Given the description of an element on the screen output the (x, y) to click on. 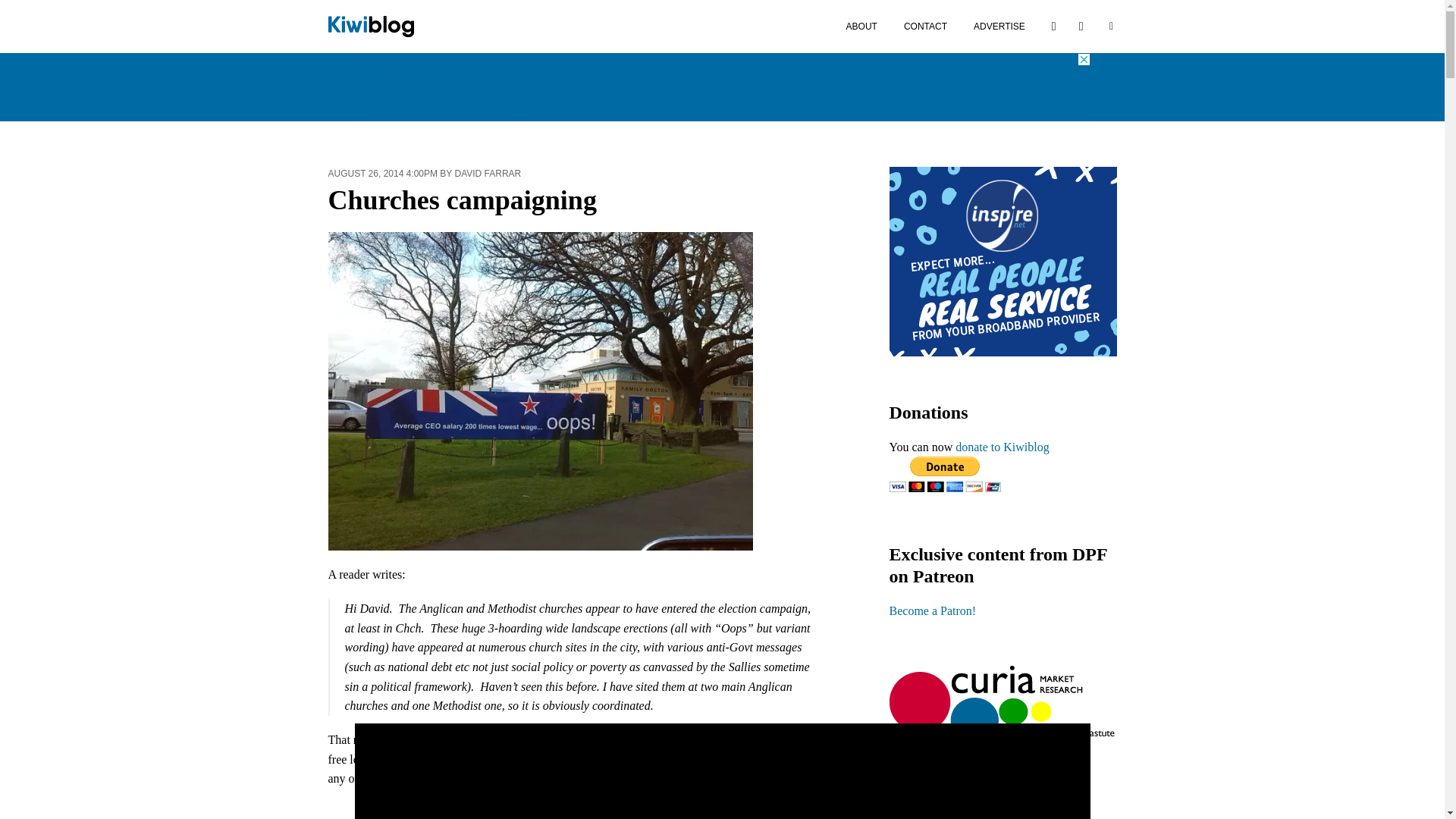
ABOUT (861, 26)
3rd party ad content (722, 87)
CONTACT (925, 26)
ADVERTISE (999, 26)
Toggle Search (1110, 26)
